Given the description of an element on the screen output the (x, y) to click on. 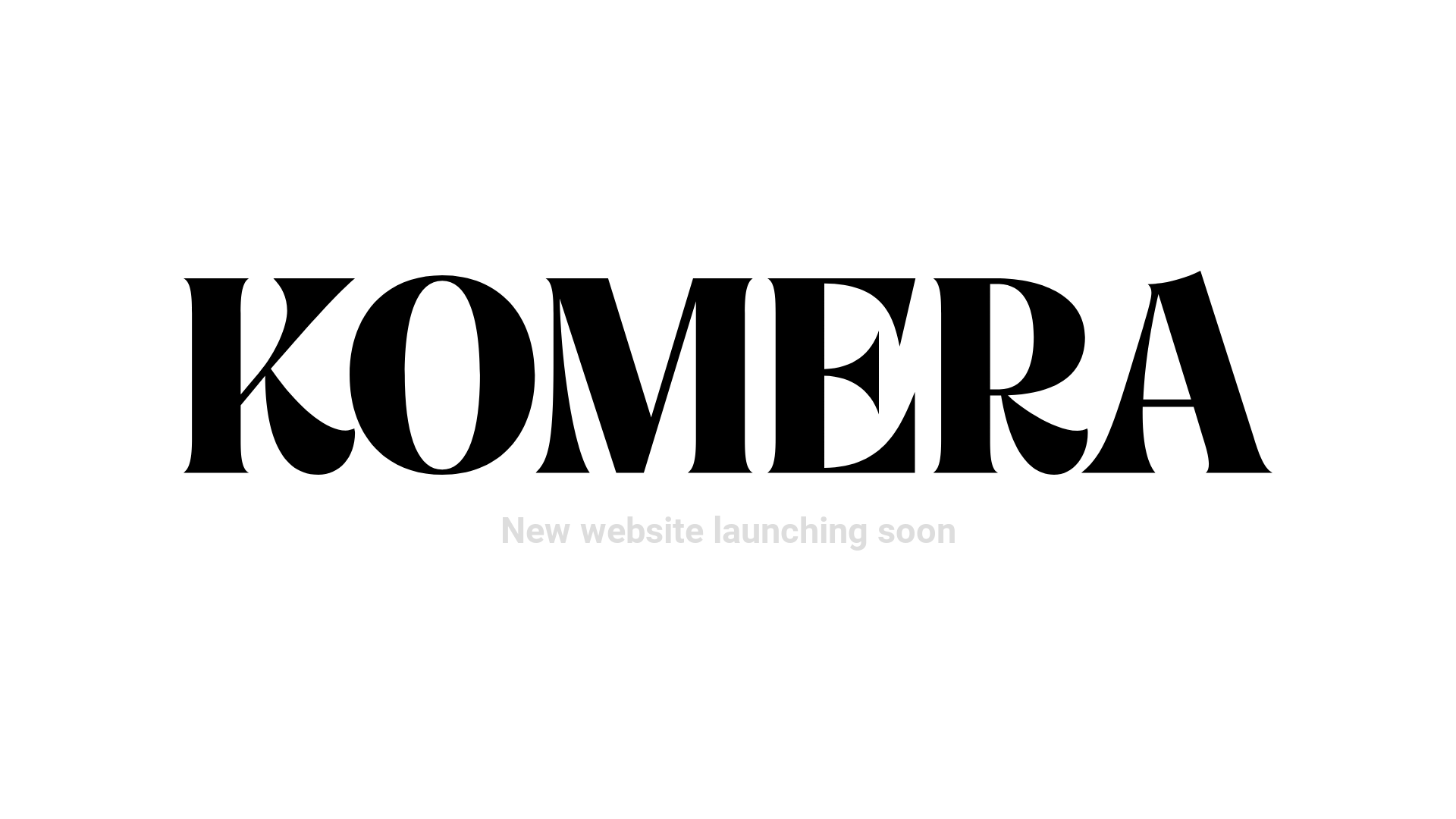
komera_logo - Komera Group - Komera Group Element type: hover (727, 372)
